Given the description of an element on the screen output the (x, y) to click on. 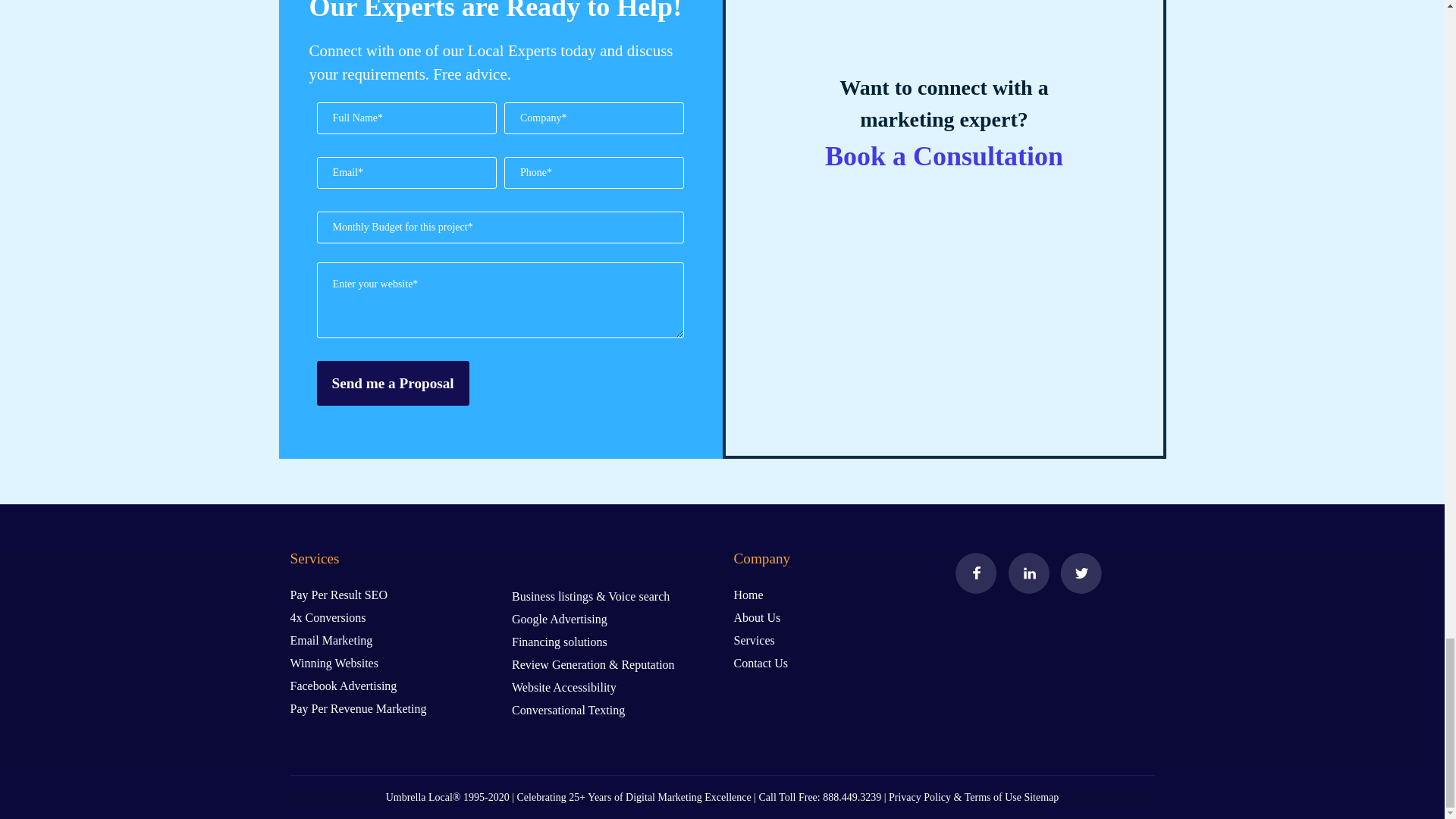
Email Marketing (330, 640)
4x Conversions (327, 617)
Send me a Proposal (392, 383)
Google Advertising (559, 618)
Website Accessibility (563, 686)
Book a Consultation (943, 155)
Conversational Texting (568, 709)
Facebook Advertising (342, 685)
Pay Per Revenue Marketing (357, 707)
Winning Websites (333, 662)
